Given the description of an element on the screen output the (x, y) to click on. 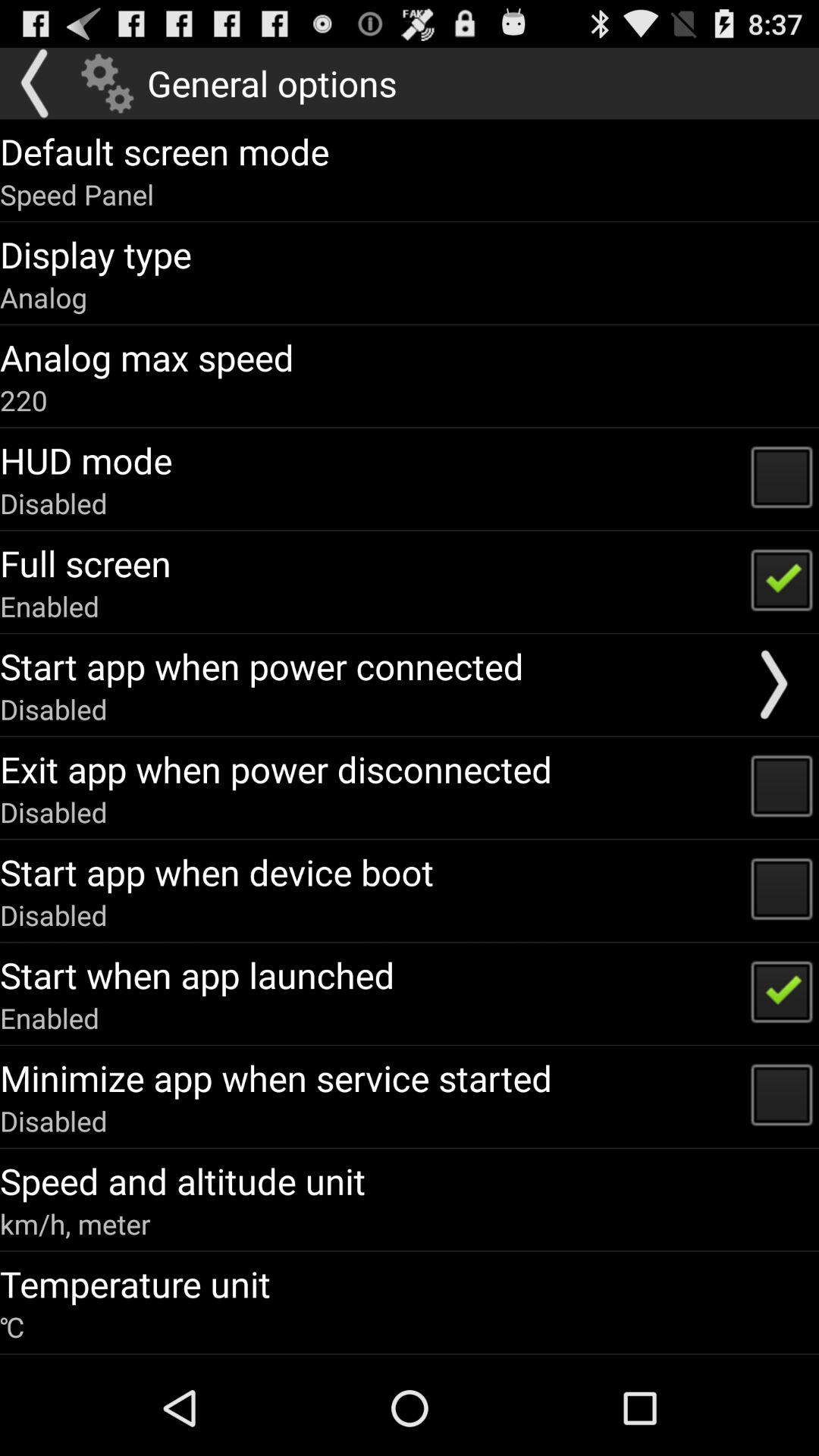
press km/h, meter icon (75, 1223)
